Given the description of an element on the screen output the (x, y) to click on. 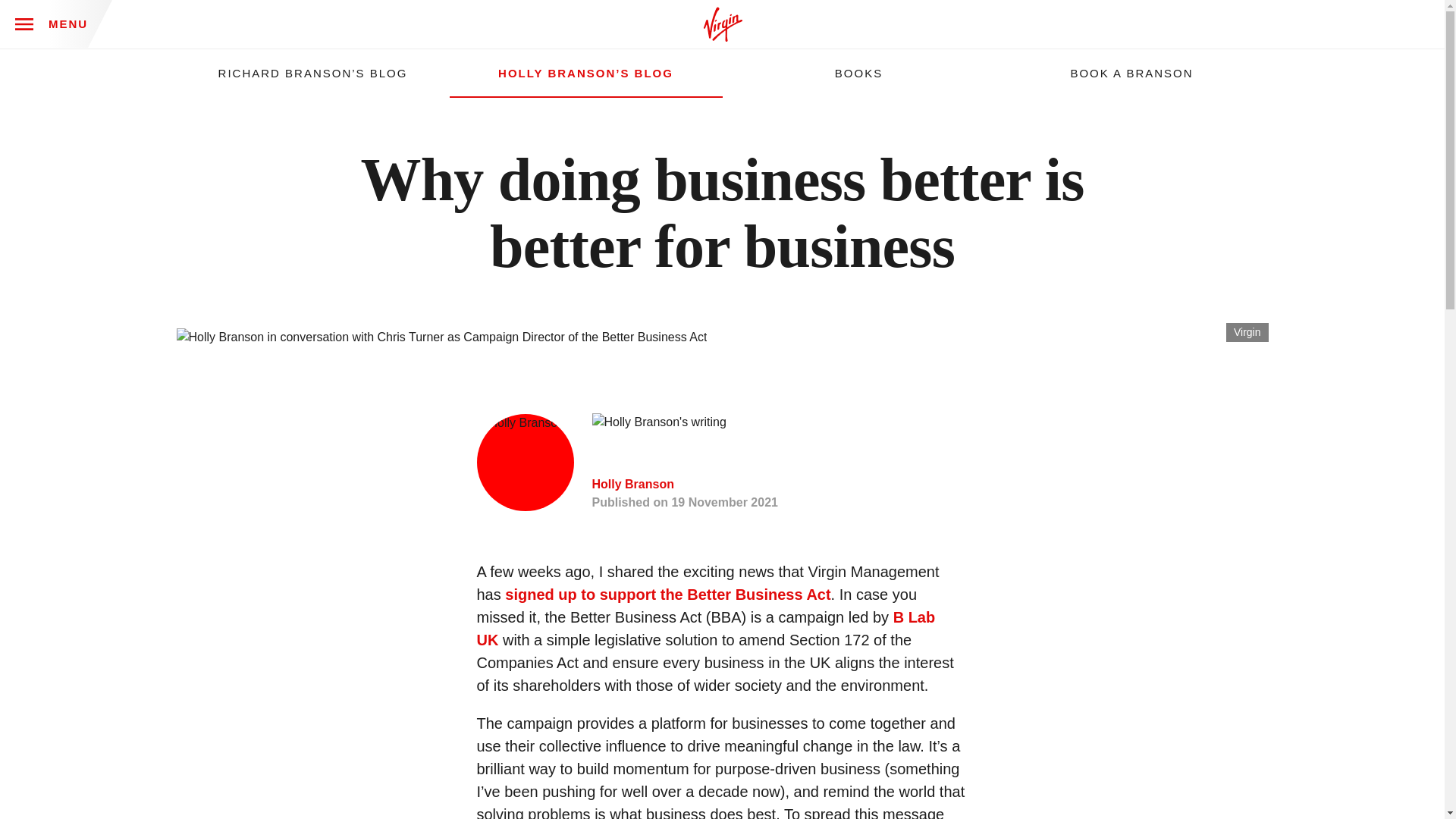
Holly Branson (631, 483)
B Lab UK (705, 628)
BOOK A BRANSON (1131, 73)
BOOKS (858, 73)
signed up to support the Better Business Act (667, 594)
